Given the description of an element on the screen output the (x, y) to click on. 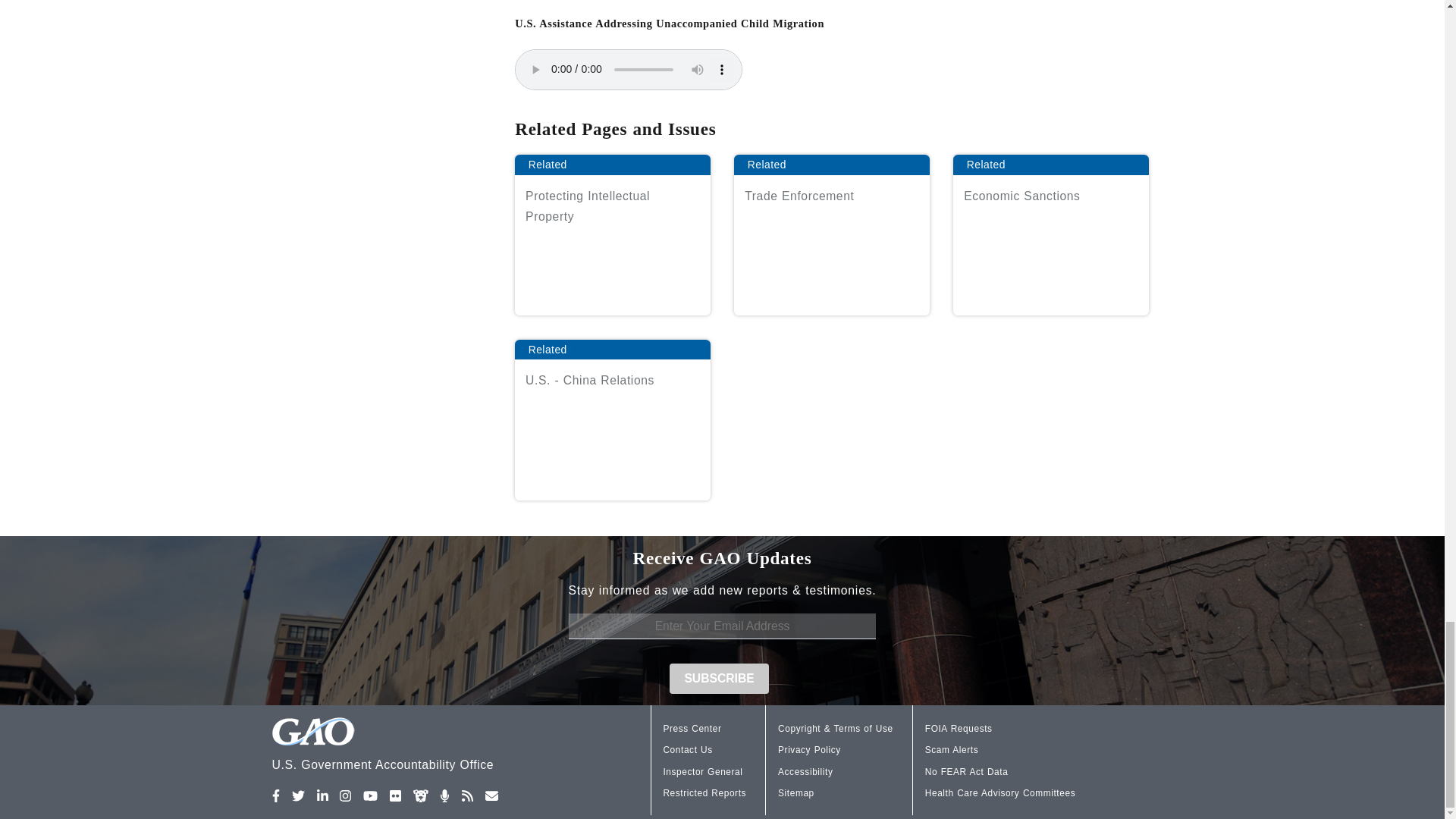
Subscribe (719, 677)
Home (421, 746)
